Given the description of an element on the screen output the (x, y) to click on. 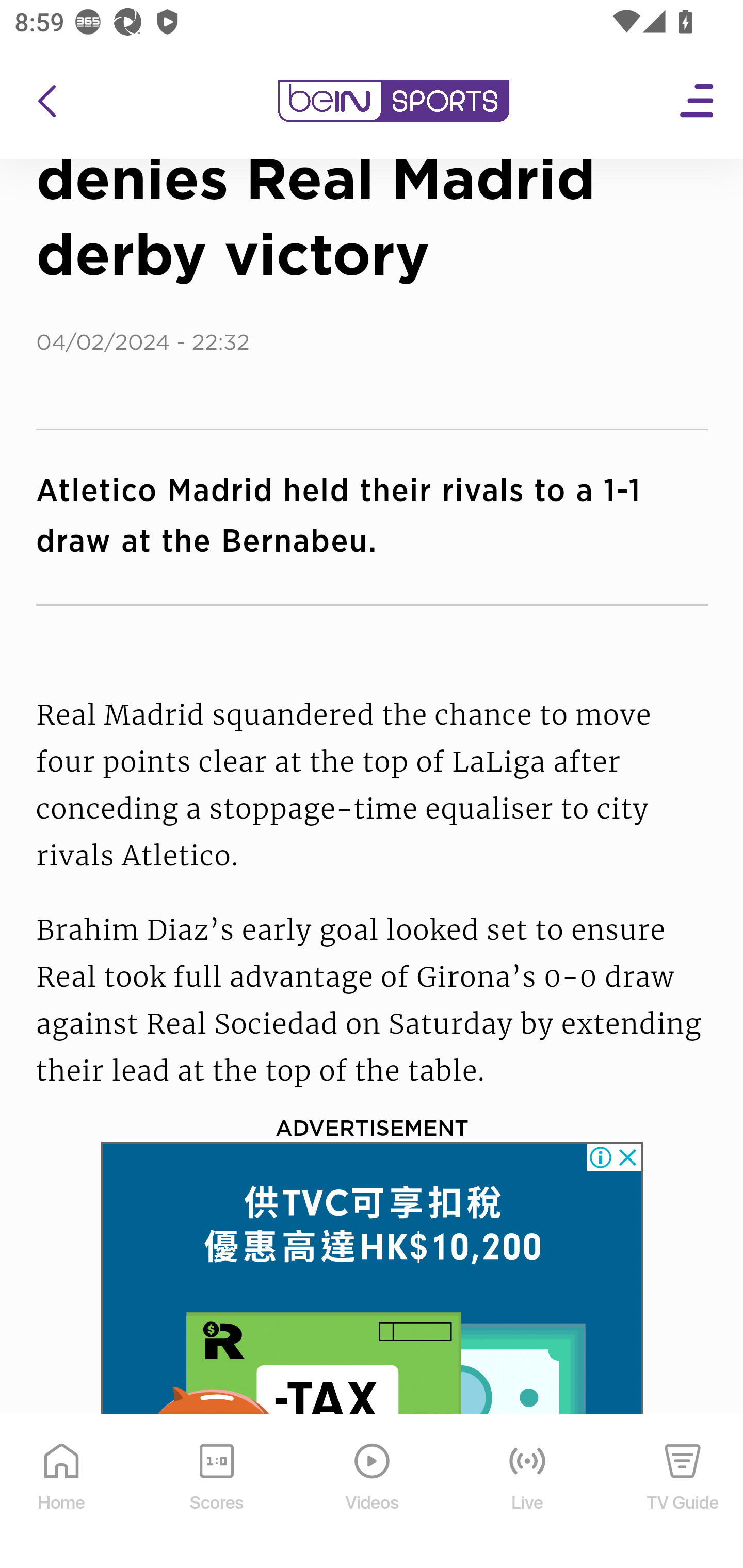
en-my?platform=mobile_android bein logo (392, 101)
icon back (46, 101)
Open Menu Icon (697, 101)
Home Home Icon Home (61, 1491)
Scores Scores Icon Scores (216, 1491)
Videos Videos Icon Videos (372, 1491)
TV Guide TV Guide Icon TV Guide (682, 1491)
